Given the description of an element on the screen output the (x, y) to click on. 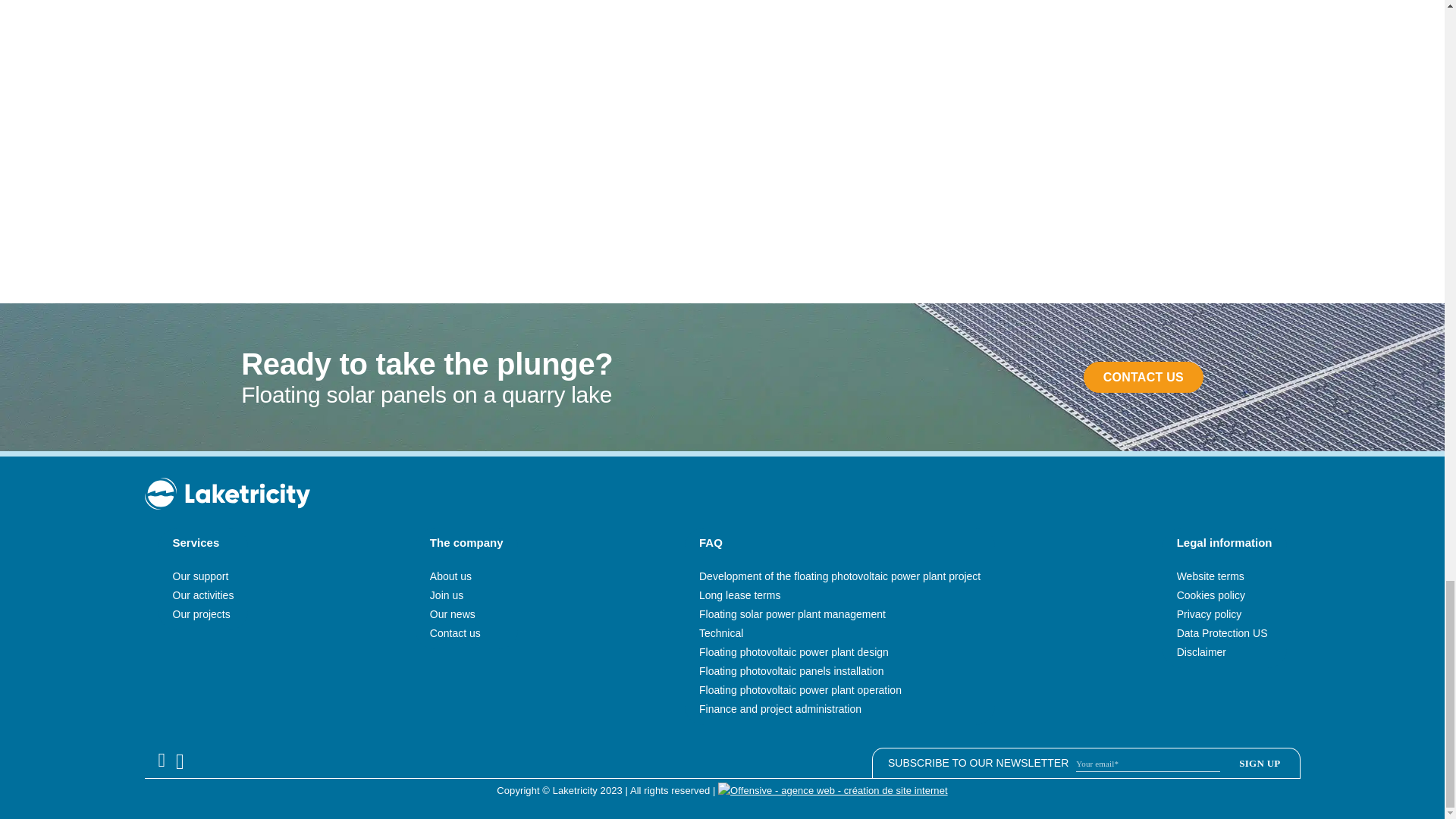
About us (450, 576)
Our activities (203, 594)
FAQ (710, 542)
Our support (200, 576)
Our news (452, 613)
Contact us (454, 633)
Sign up (1259, 763)
Join us (446, 594)
Our projects (201, 613)
SUBSCRIBE TO OUR NEWSLETTER (1094, 763)
